Given the description of an element on the screen output the (x, y) to click on. 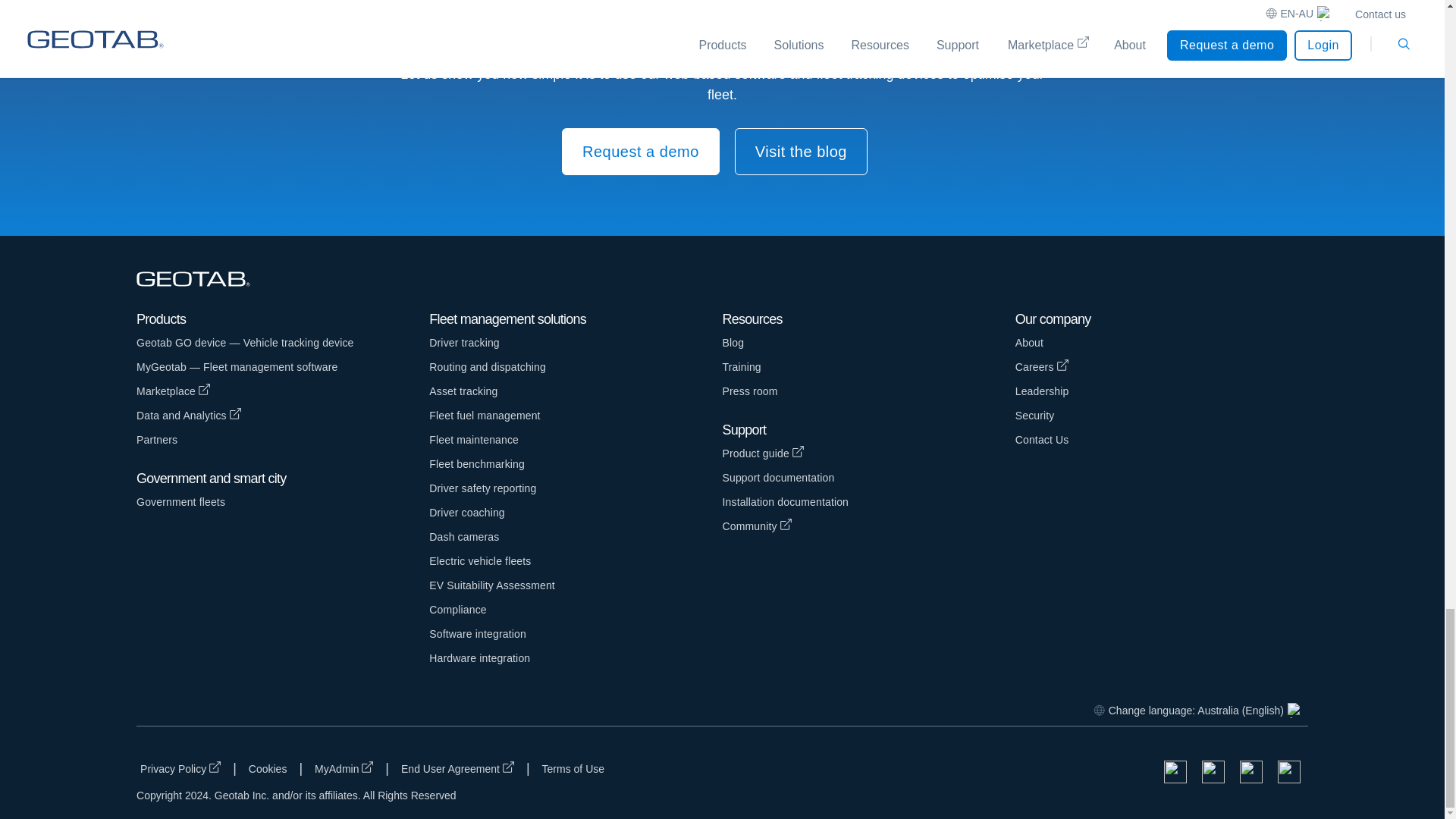
This link may open in a new tab (282, 391)
This link may open in a new tab (457, 768)
This link may open in a new tab (344, 768)
Go to Homepage (200, 279)
This link may open in a new tab (282, 415)
This link may open in a new tab (1160, 367)
This link may open in a new tab (180, 768)
This link may open in a new tab (868, 454)
This link may open in a new tab (868, 526)
